Given the description of an element on the screen output the (x, y) to click on. 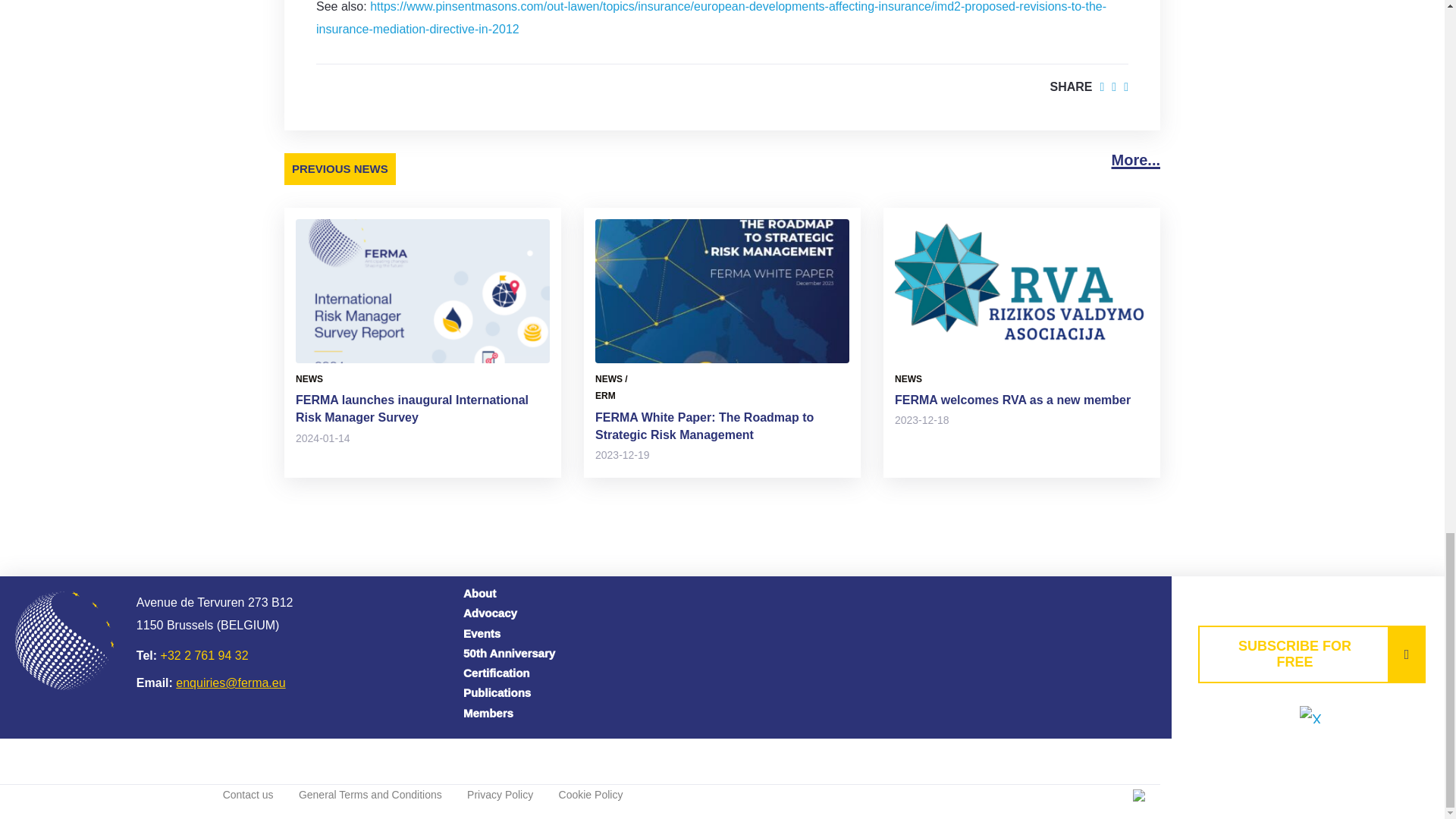
Contact us by email (230, 682)
